Given the description of an element on the screen output the (x, y) to click on. 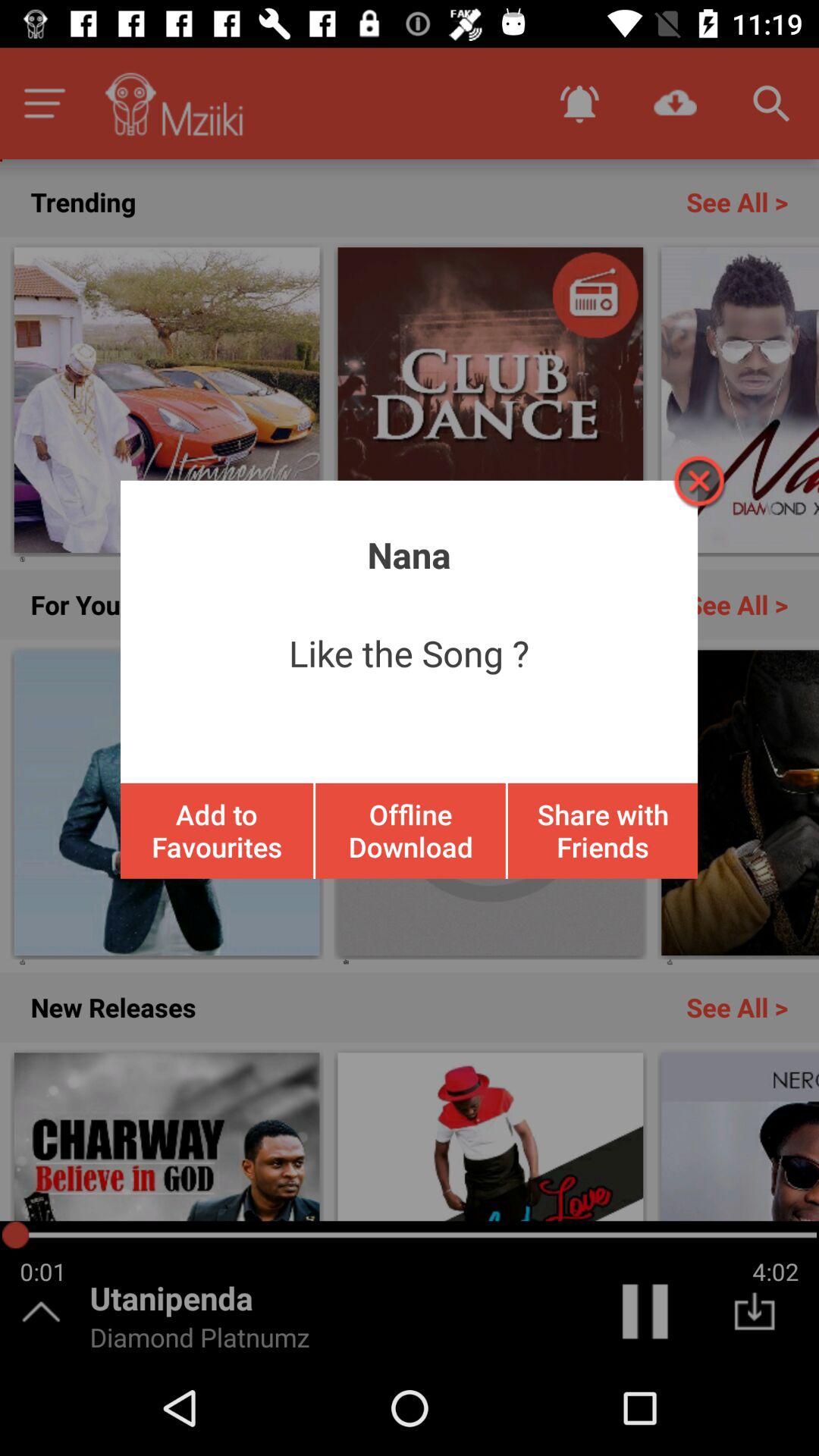
open the button to the left of the offline download button (216, 830)
